Given the description of an element on the screen output the (x, y) to click on. 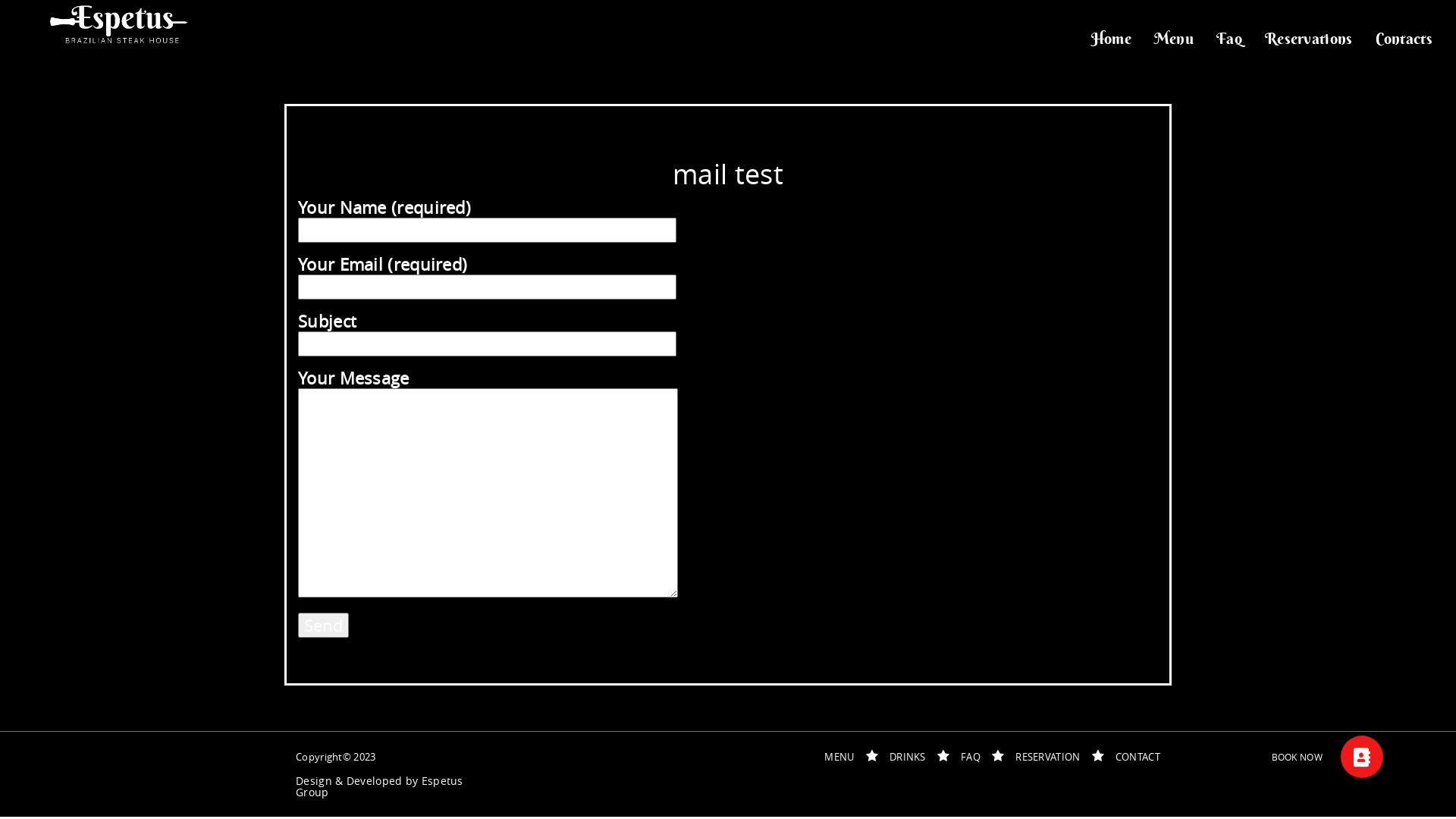
MENU Element type: text (838, 756)
Faq Element type: text (1228, 38)
BOOK NOW Element type: text (1361, 756)
RESERVATION Element type: text (1047, 756)
CONTACT Element type: text (1137, 756)
Reservations Element type: text (1308, 38)
Contacts Element type: text (1403, 38)
Home Element type: text (1110, 38)
Menu Element type: text (1173, 38)
FAQ Element type: text (970, 756)
DRINKS Element type: text (907, 756)
Send Element type: text (323, 624)
